Given the description of an element on the screen output the (x, y) to click on. 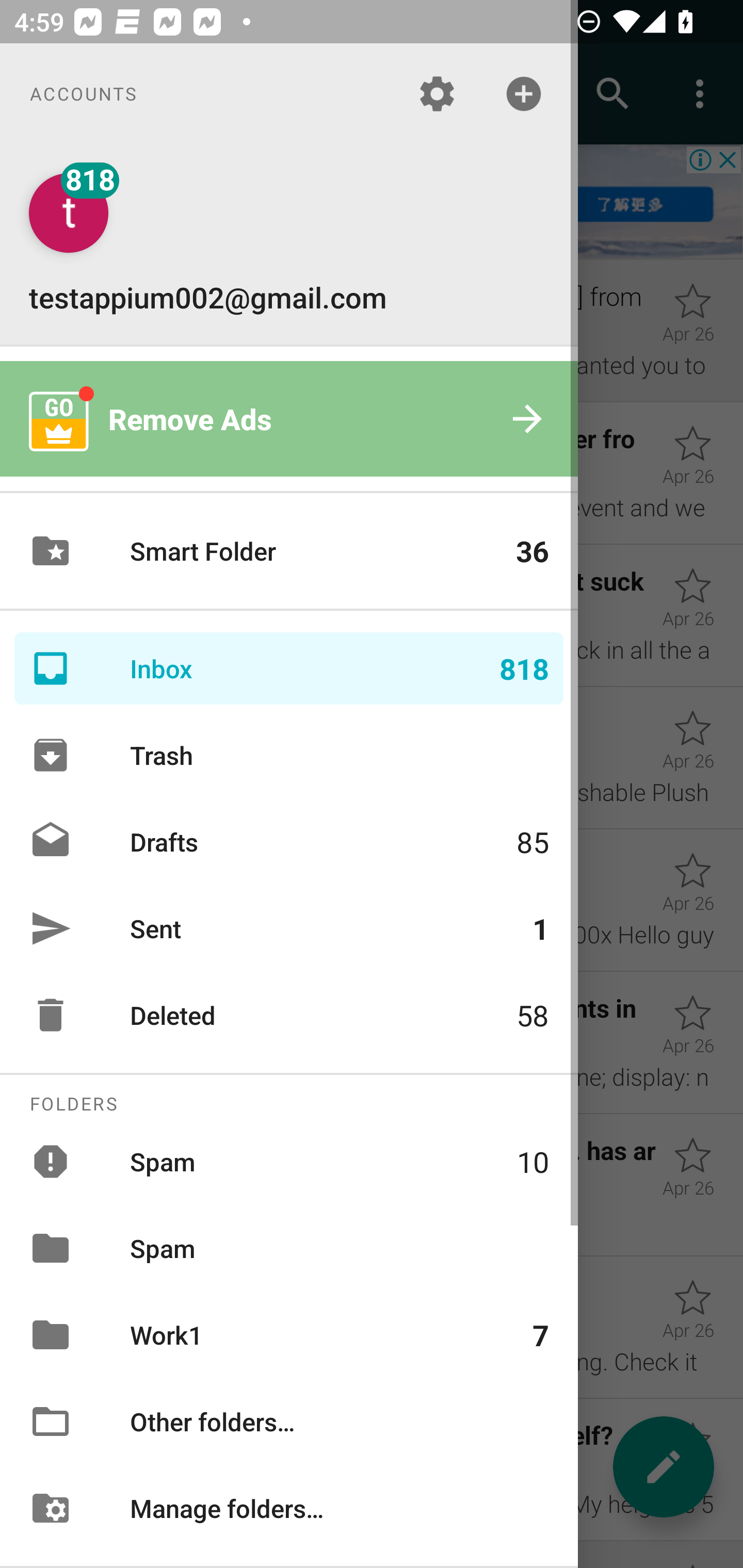
testappium002@gmail.com (289, 244)
Remove Ads (289, 418)
Smart Folder 36 (289, 551)
Inbox 818 (289, 668)
Trash (289, 754)
Drafts 85 (289, 841)
Sent 1 (289, 928)
Deleted 58 (289, 1015)
Spam 10 (289, 1160)
Spam (289, 1248)
Work1 7 (289, 1335)
Other folders… (289, 1421)
Manage folders… (289, 1507)
